Given the description of an element on the screen output the (x, y) to click on. 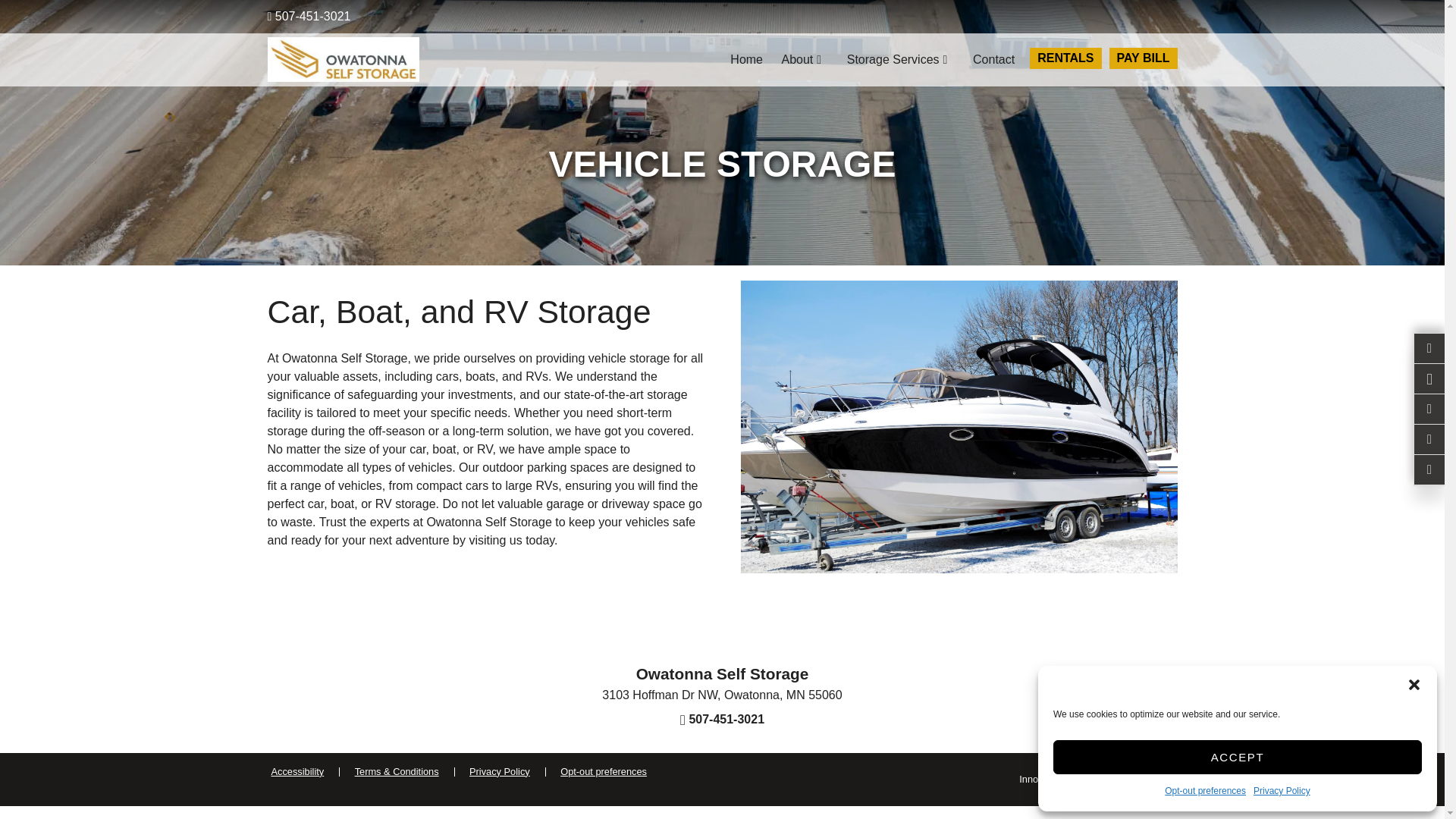
About (804, 59)
Contact (993, 59)
Storage Services (901, 59)
Home (746, 59)
ACCEPT (1237, 756)
Privacy Policy (499, 771)
Accessibility (296, 771)
PAY BILL (1143, 57)
Privacy Policy (1281, 791)
Opt-out preferences (603, 771)
